Given the description of an element on the screen output the (x, y) to click on. 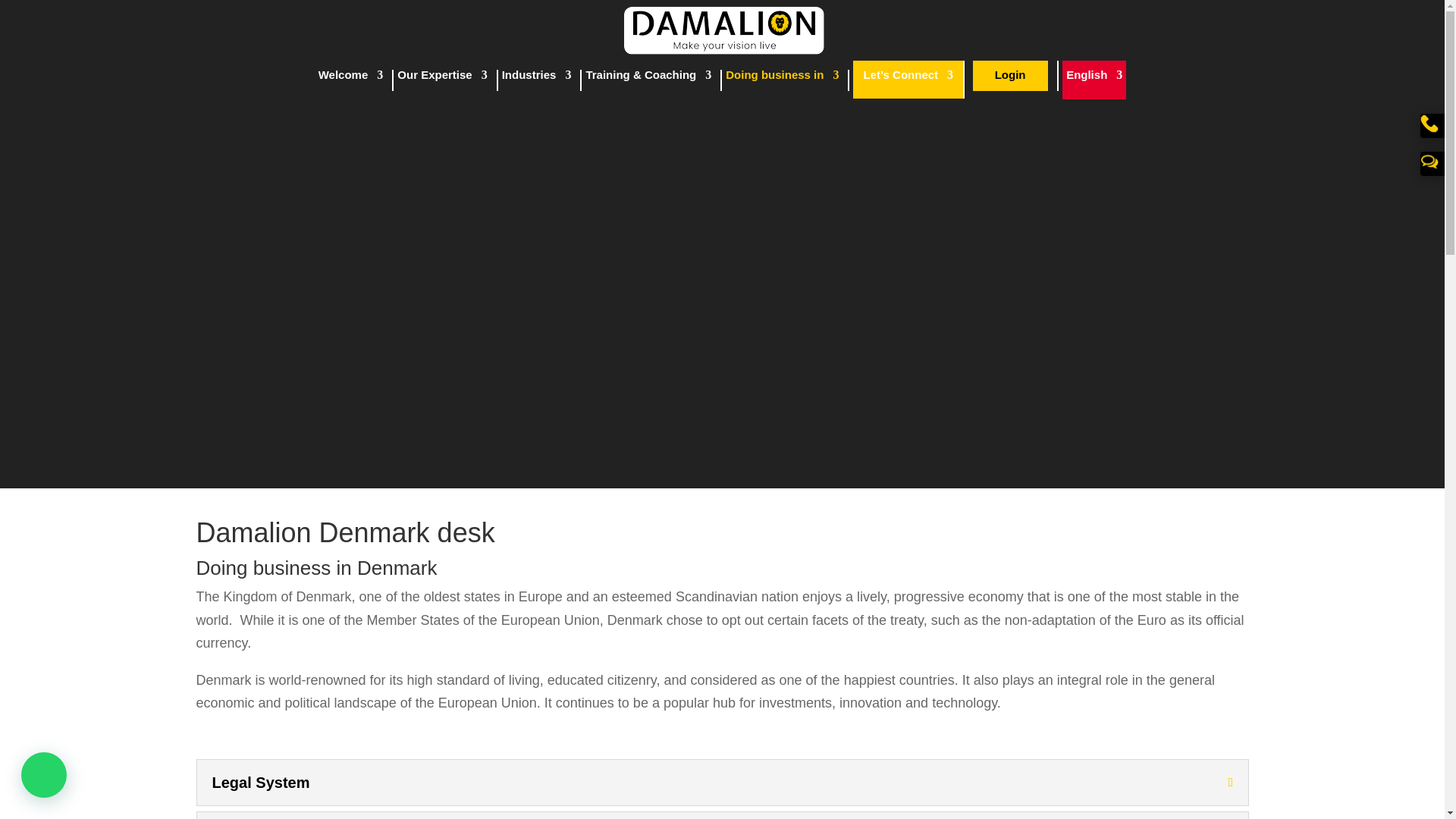
Our Expertise (441, 79)
Welcome (351, 79)
English (1093, 79)
